Given the description of an element on the screen output the (x, y) to click on. 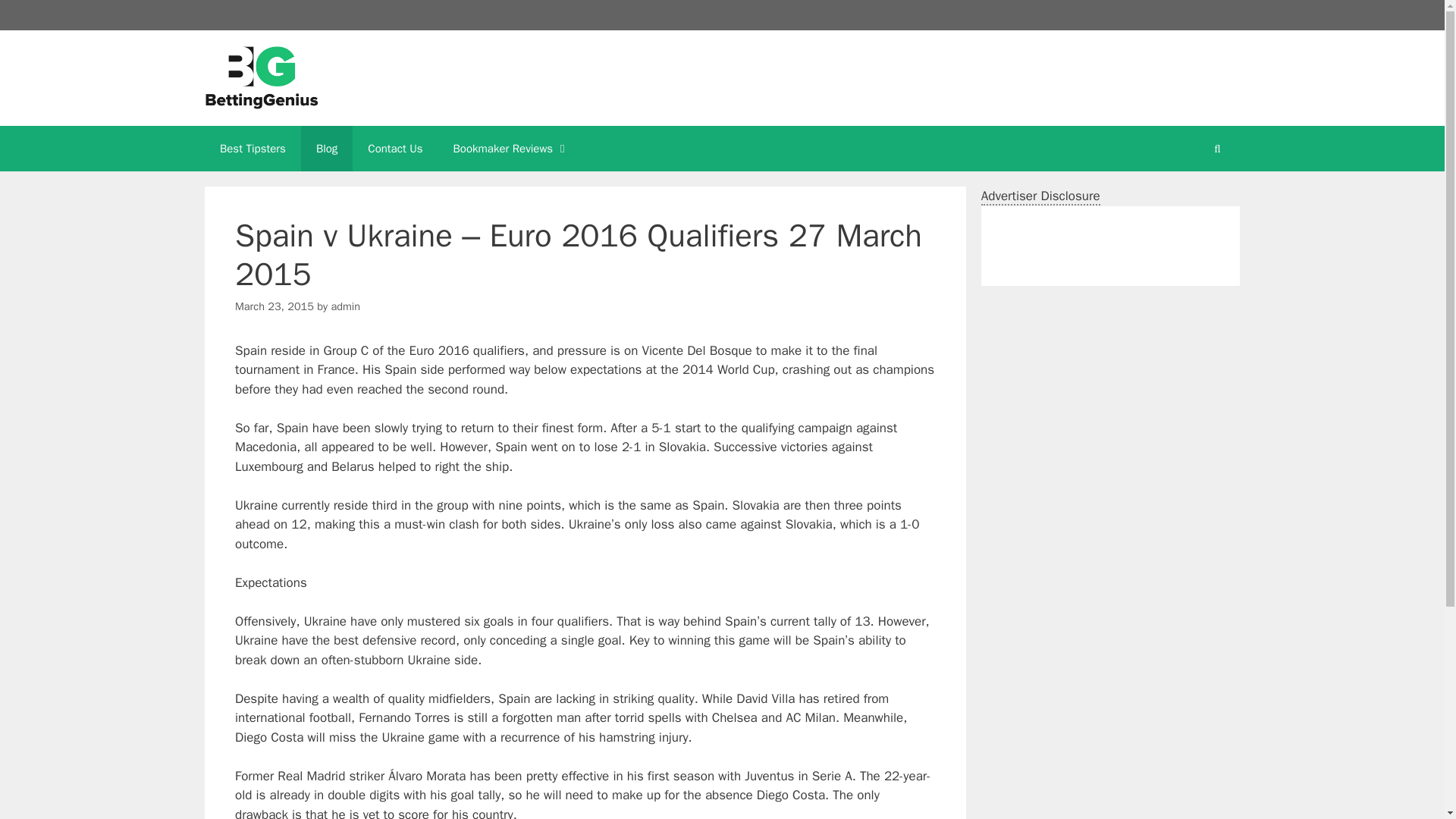
Contact Us (395, 148)
Bookmaker Reviews (511, 148)
Blog (326, 148)
Best Tipsters (253, 148)
admin (344, 305)
View all posts by admin (344, 305)
